Given the description of an element on the screen output the (x, y) to click on. 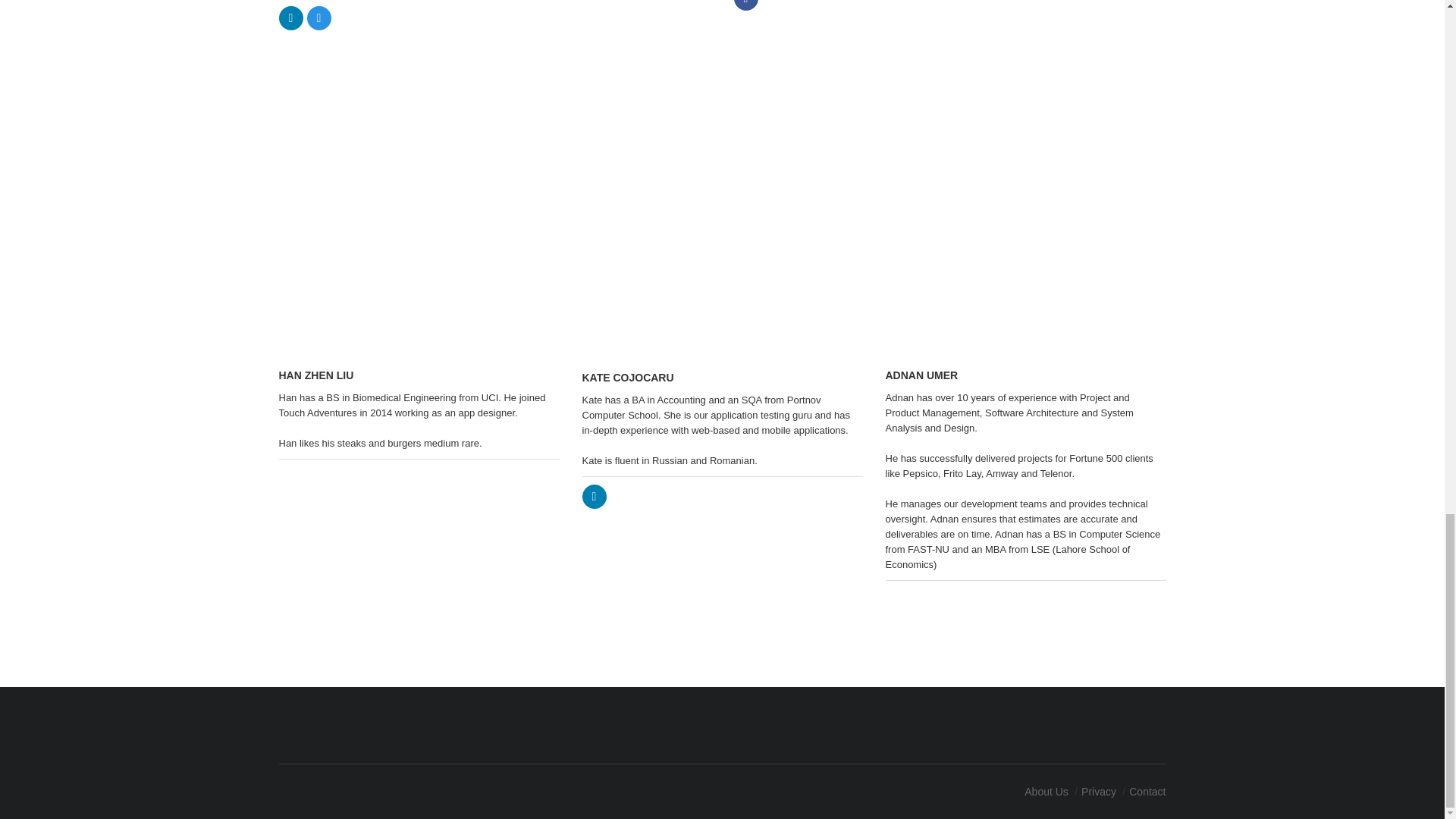
Privacy (1098, 791)
About Us (1046, 791)
Facebook (745, 5)
Contact (1147, 791)
LinkedIn (290, 17)
LinkedIn (594, 496)
